Given the description of an element on the screen output the (x, y) to click on. 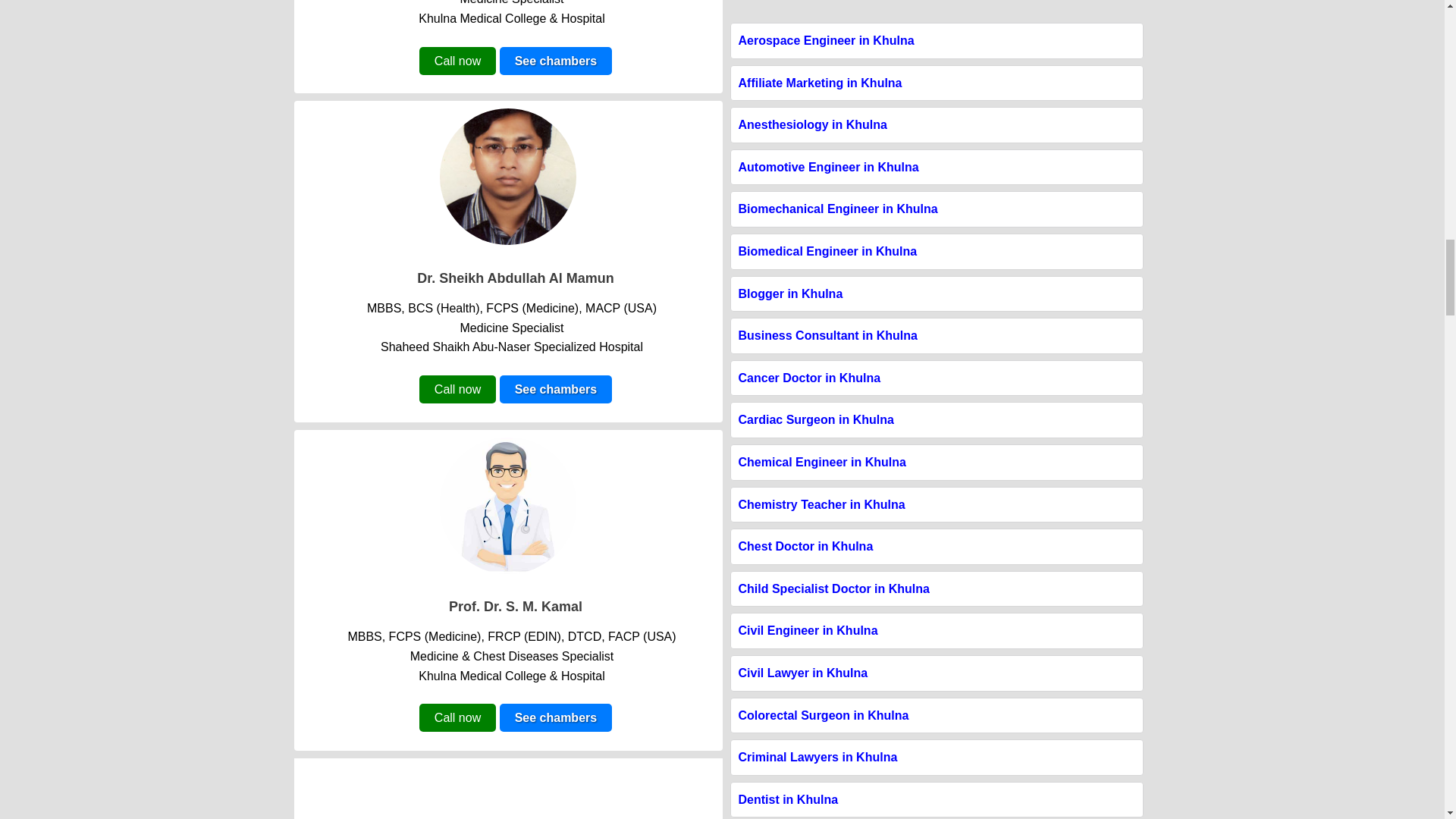
Dr. Sheikh Abdullah Al Mamun (515, 278)
See chambers (555, 389)
See chambers (555, 717)
See chambers (555, 60)
Prof. Dr. S. M. Kamal (515, 606)
